Given the description of an element on the screen output the (x, y) to click on. 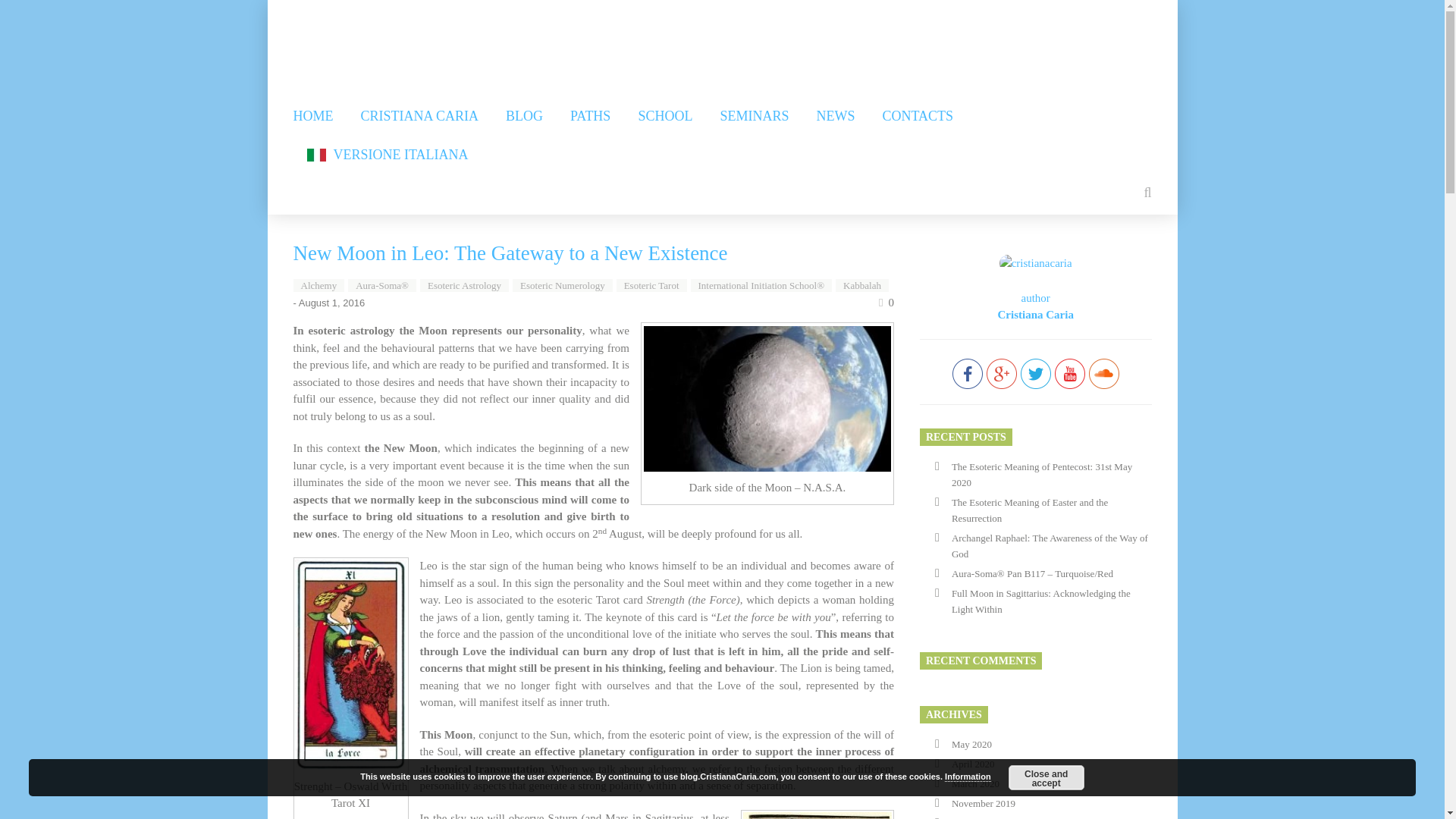
Esoteric Astrology (464, 285)
BLOG (524, 116)
PATHS (590, 116)
Esoteric Tarot (651, 285)
Versione italiana (386, 154)
Kabbalah (861, 285)
SCHOOL (665, 116)
CRISTIANA CARIA (420, 116)
Alchemy (317, 285)
NEWS (834, 116)
